Given the description of an element on the screen output the (x, y) to click on. 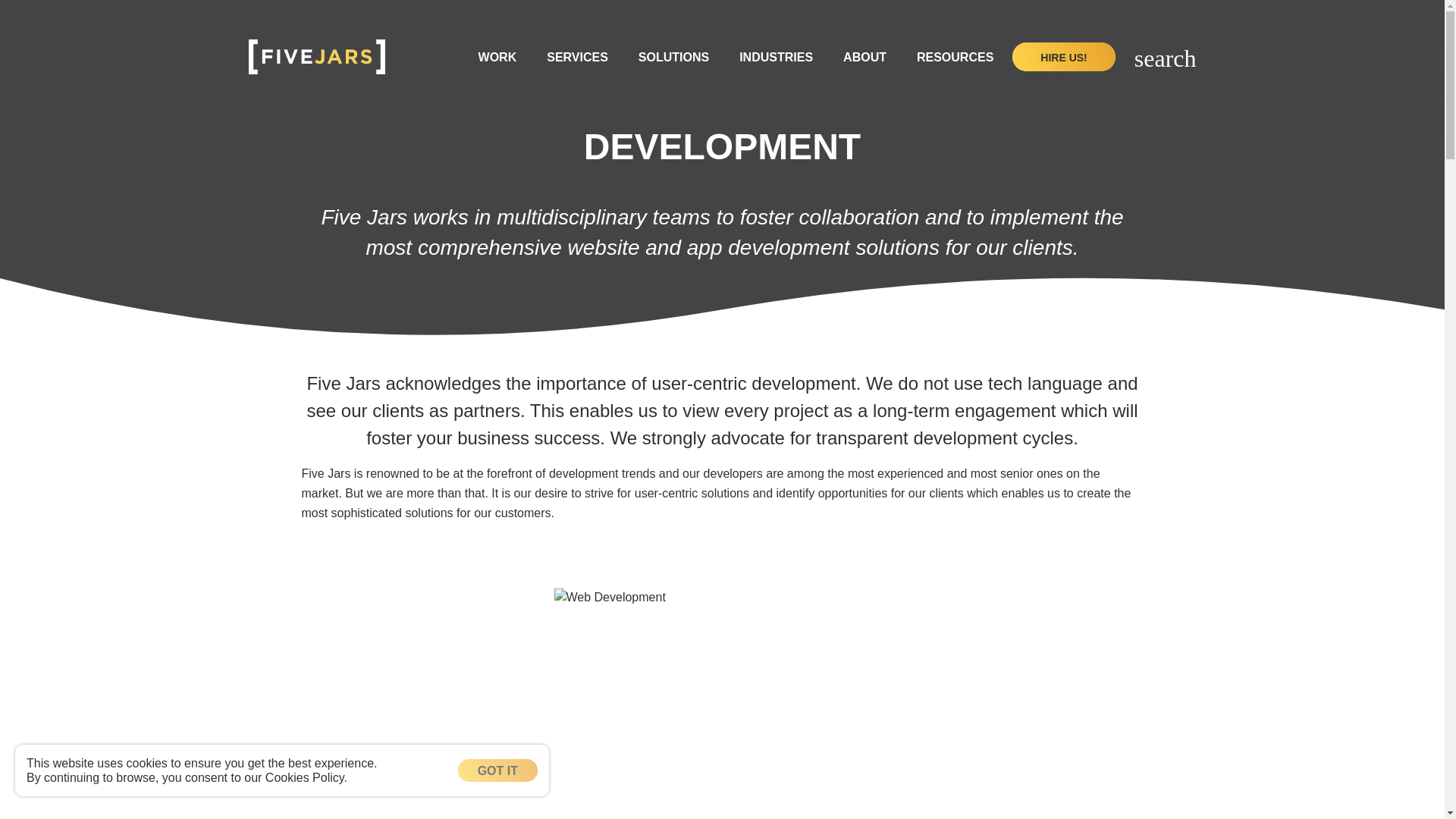
HIRE US! (1063, 56)
GOT IT (497, 770)
WORK (497, 56)
